Given the description of an element on the screen output the (x, y) to click on. 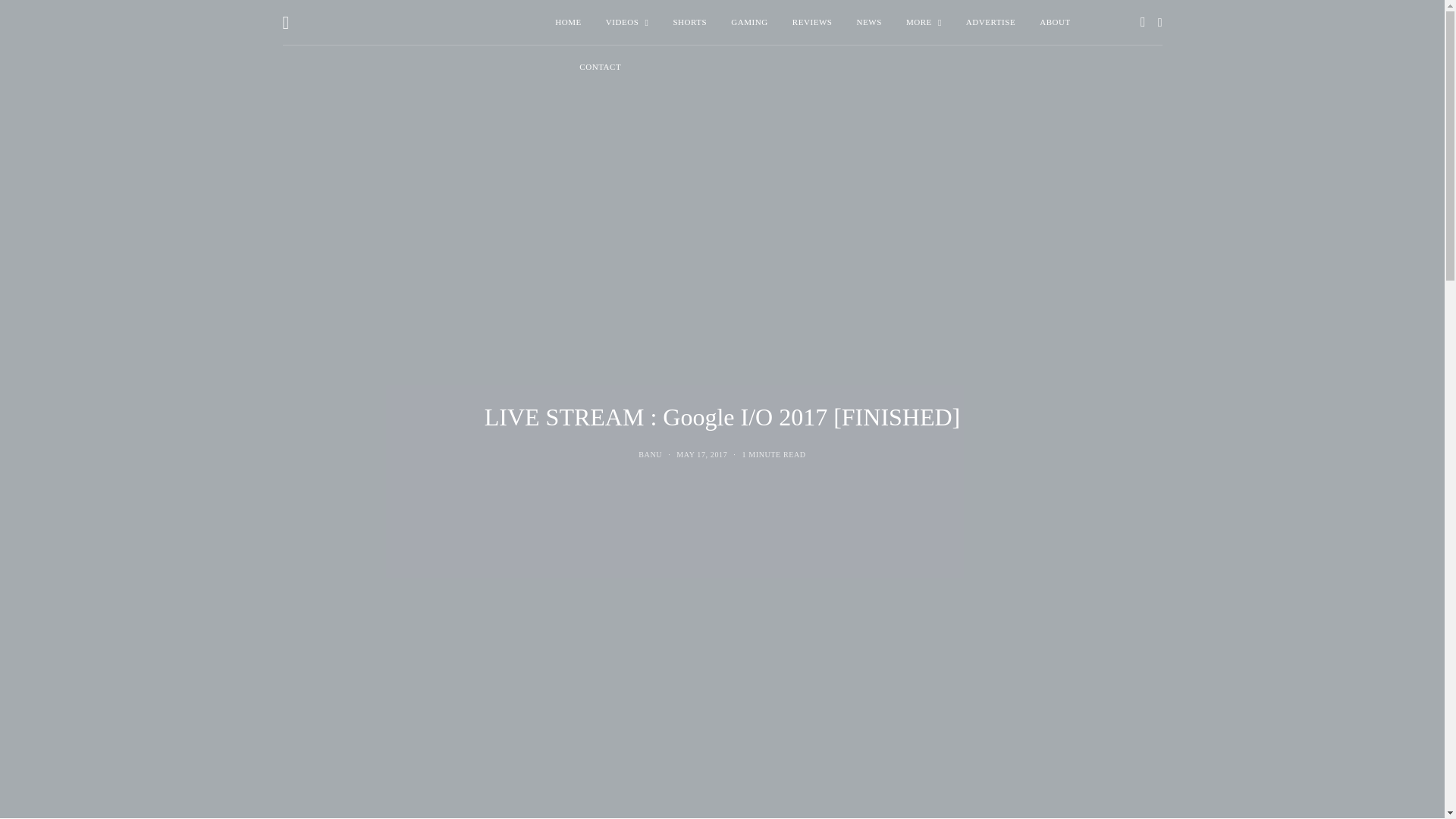
ADVERTISE (990, 22)
CONTACT (600, 67)
View all posts by Banu (650, 454)
REVIEWS (812, 22)
BANU (650, 454)
VIDEOS (627, 22)
MAY 17, 2017 (701, 454)
